Given the description of an element on the screen output the (x, y) to click on. 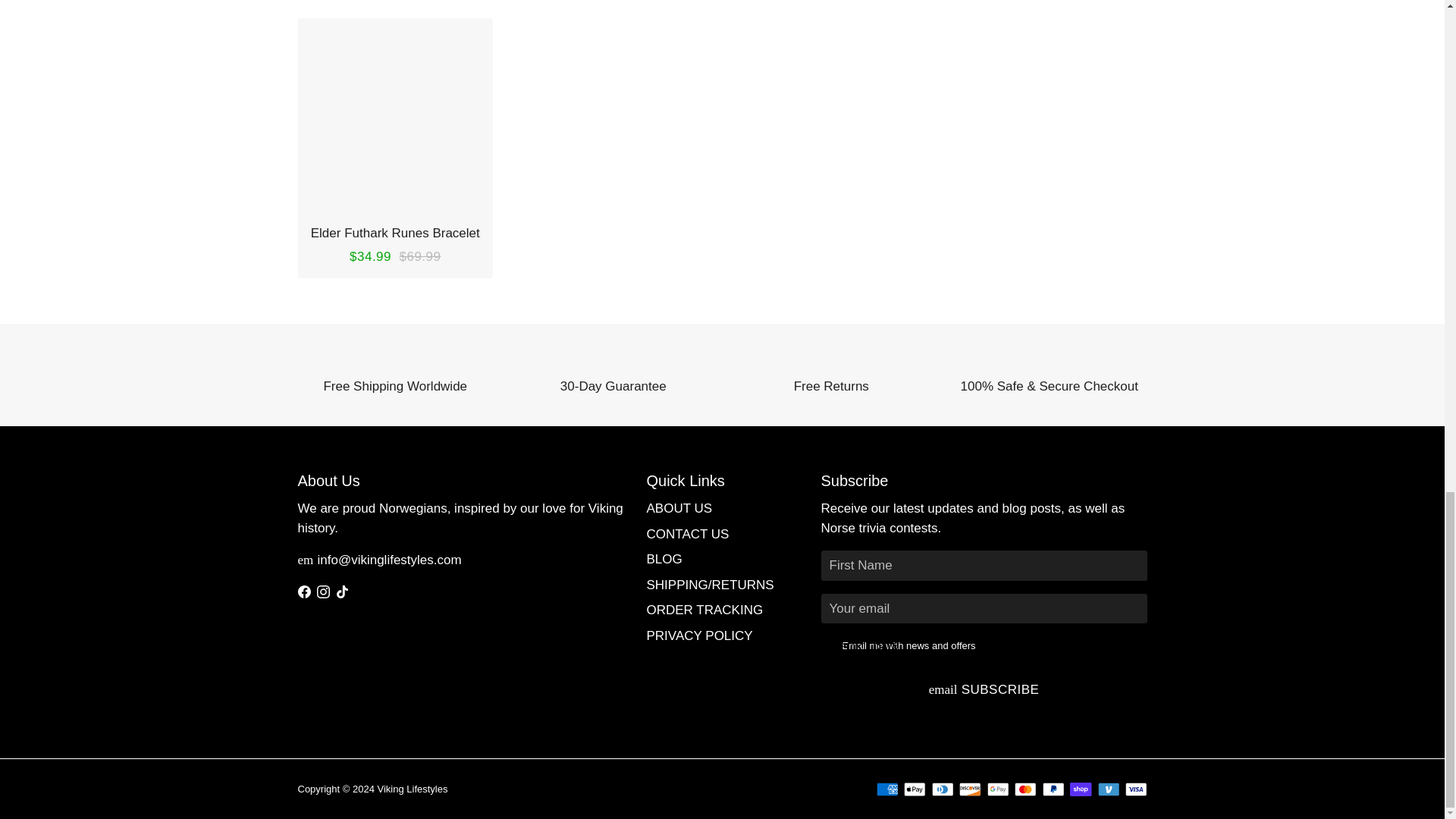
Apple Pay (915, 789)
Diners Club (941, 789)
Viking Lifestyles  on Instagram (323, 592)
PayPal (1052, 789)
American Express (887, 789)
Google Pay (998, 789)
Viking Lifestyles  on Tiktok (340, 592)
Viking Lifestyles  on Facebook (303, 592)
Discover (970, 789)
Mastercard (1025, 789)
